Given the description of an element on the screen output the (x, y) to click on. 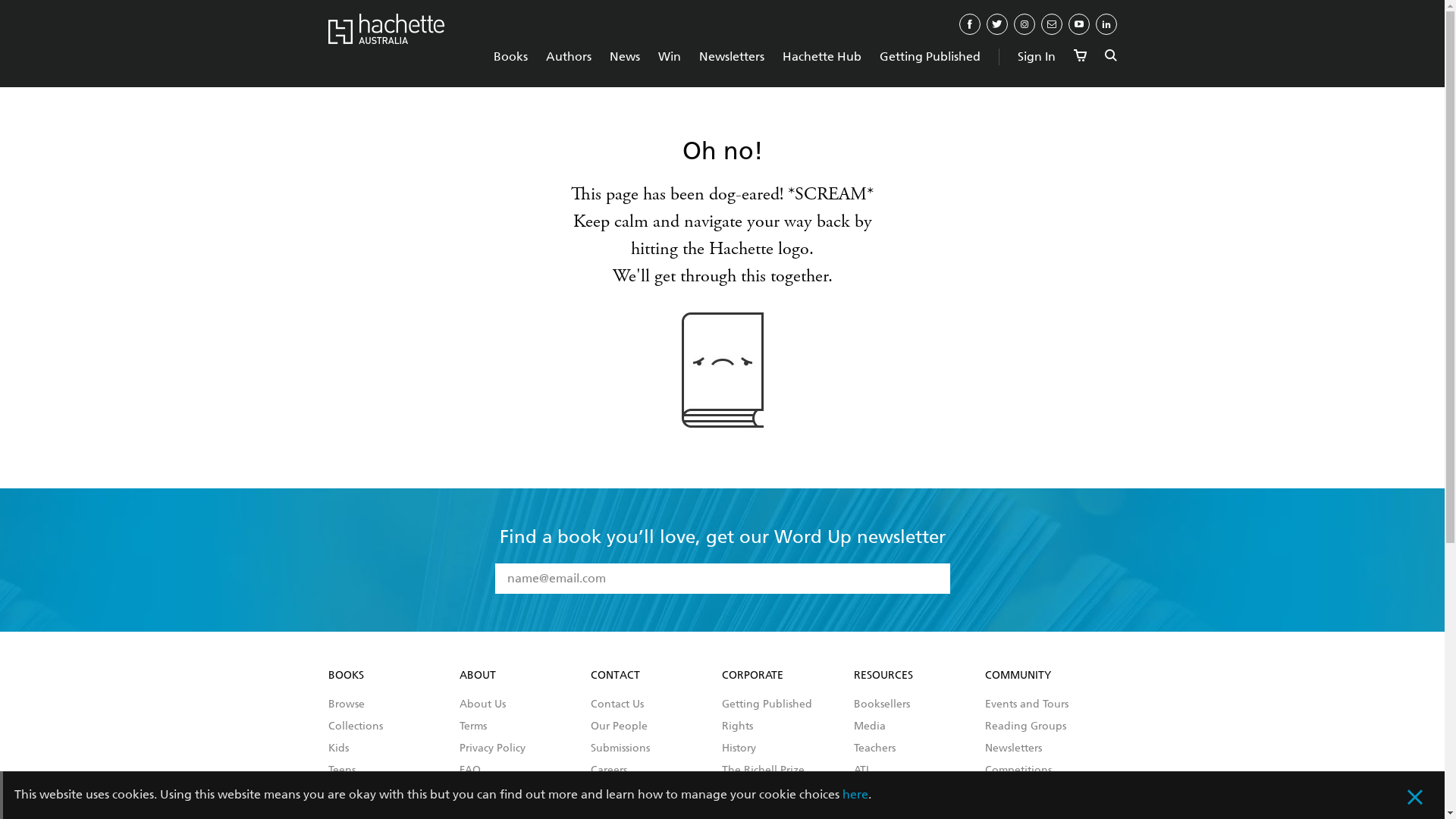
Getting Published Element type: text (929, 56)
Our People Element type: text (618, 725)
Getting Published Element type: text (766, 703)
Search Element type: text (1110, 56)
Browse Element type: text (345, 703)
Careers Element type: text (608, 769)
Booksellers Element type: text (881, 703)
ATI Element type: text (861, 769)
About Us Element type: text (482, 703)
Newsletters Element type: text (1013, 747)
Privacy Policy Element type: text (492, 747)
FAQ Element type: text (469, 769)
Contact Us Element type: text (616, 703)
Close cookie policy overlay Element type: text (1424, 798)
Hachette Hub Element type: text (821, 56)
Competitions Element type: text (1018, 769)
Win Element type: text (669, 56)
Linkedin Element type: text (1105, 23)
History Element type: text (738, 747)
Facebook Element type: text (968, 23)
Sign In Element type: text (1036, 56)
Email Element type: text (1050, 23)
News Element type: text (624, 56)
Newsletters Element type: text (731, 56)
YouTube Element type: text (1077, 23)
The Richell Prize Element type: text (762, 769)
Corporate Sales Element type: text (892, 791)
Authors Element type: text (568, 56)
BOOKS Element type: text (345, 674)
Books Element type: text (509, 56)
CHANGING THE STORY Element type: text (384, 806)
here Element type: text (855, 794)
Terms Element type: text (472, 725)
View Cart Element type: text (1079, 56)
Reading Groups Element type: text (1025, 725)
CORPORATE Element type: text (752, 674)
Teens Element type: text (340, 769)
Rights Element type: text (737, 725)
Media Element type: text (869, 725)
Teachers Element type: text (874, 747)
Twitter Element type: text (996, 23)
Instagram Element type: text (1023, 23)
Events and Tours Element type: text (1026, 703)
COMMUNITY Element type: text (1018, 674)
Submissions Element type: text (619, 747)
Australia Reads Element type: text (1023, 791)
Kids Element type: text (337, 747)
CONTACT Element type: text (615, 674)
Collections Element type: text (354, 725)
RESOURCES Element type: text (883, 674)
ABOUT Element type: text (477, 674)
